Given the description of an element on the screen output the (x, y) to click on. 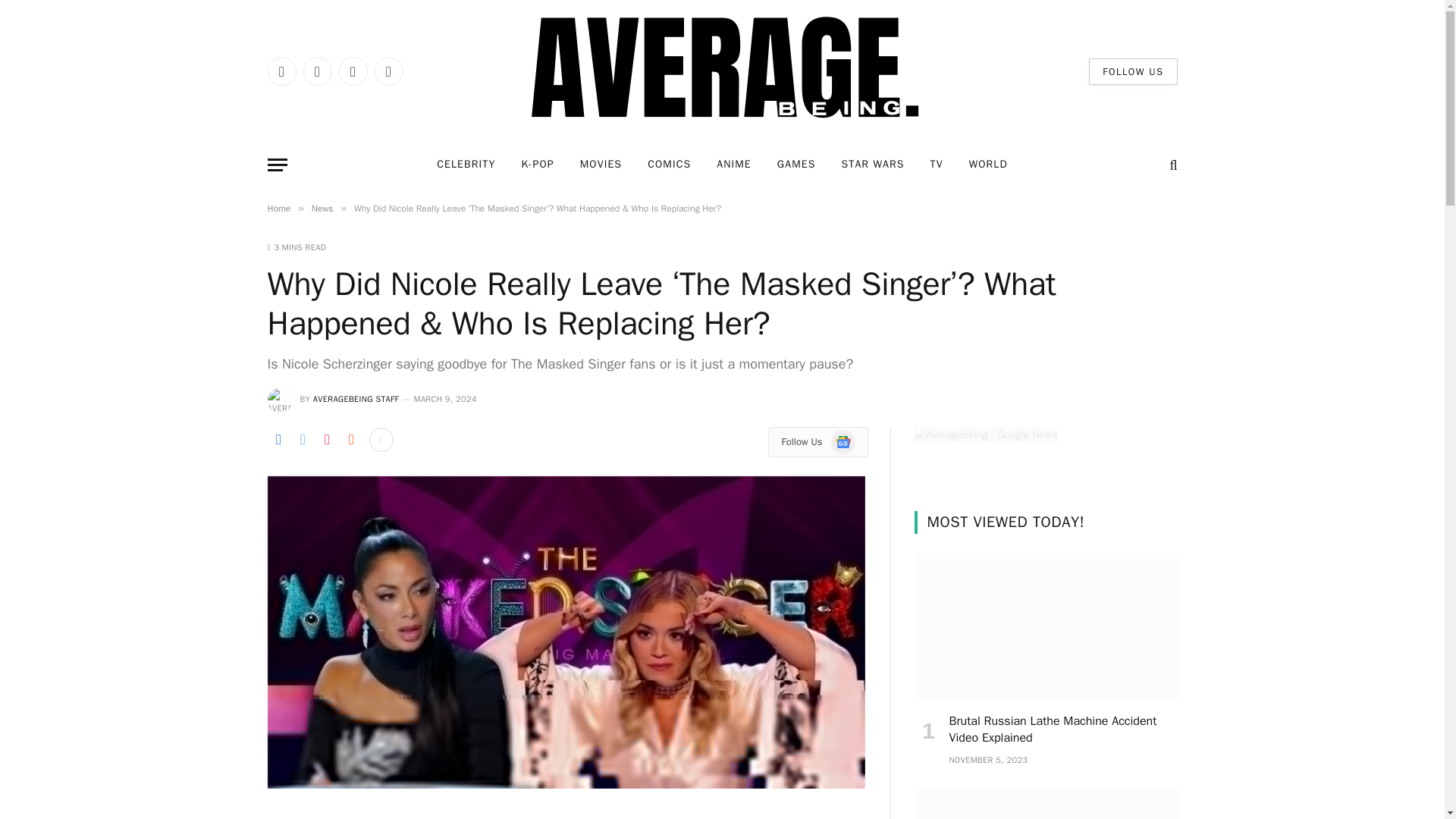
MOVIES (600, 164)
Share on Reddit (350, 439)
CELEBRITY (465, 164)
Share on Pinterest (326, 439)
Instagram (351, 70)
COMICS (668, 164)
ANIME (733, 164)
YouTube (388, 70)
Posts by Averagebeing Staff (355, 398)
Averagebeing (721, 71)
